Given the description of an element on the screen output the (x, y) to click on. 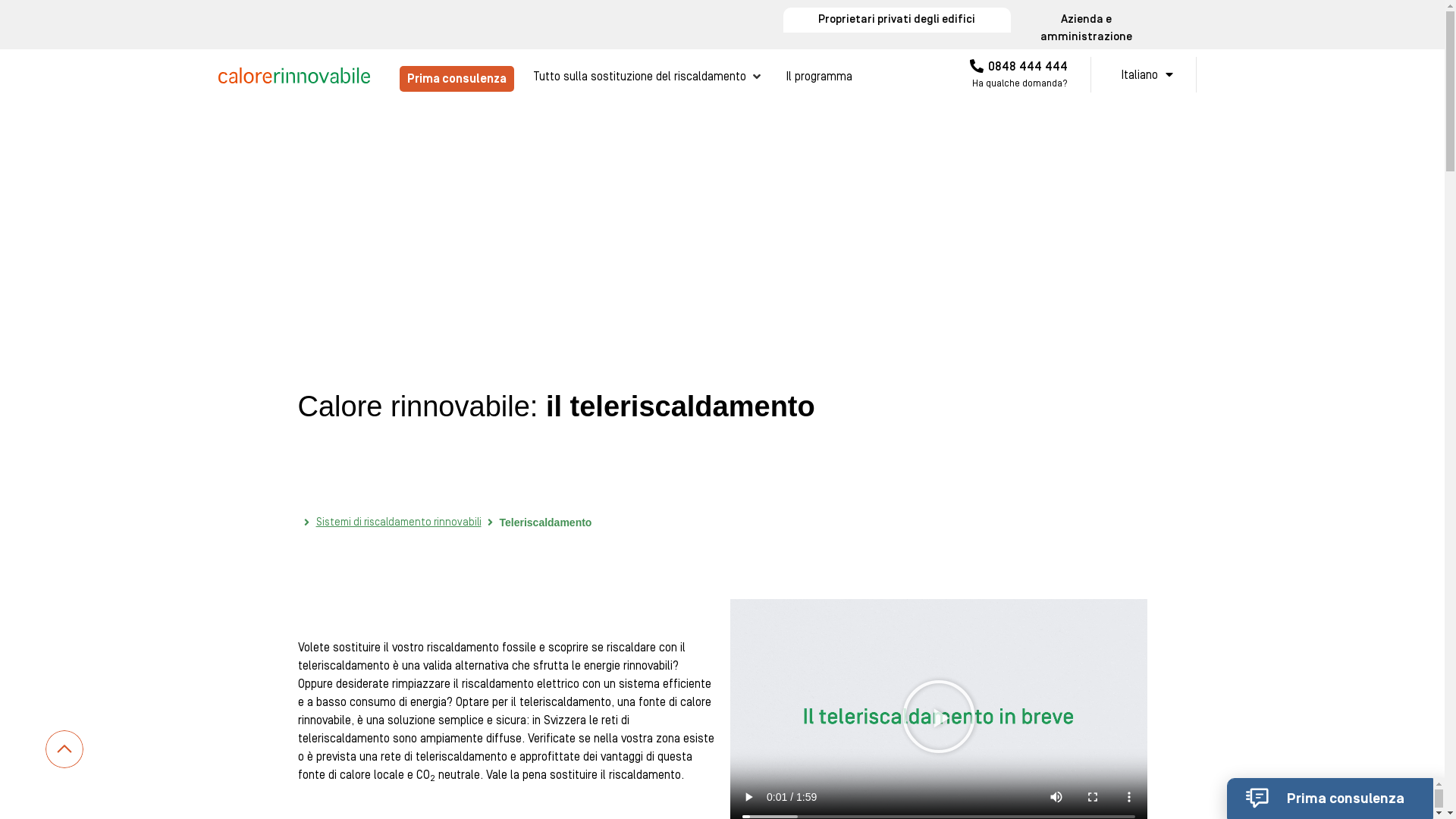
Proprietari privati degli edifici Element type: text (896, 19)
Azienda e amministrazione Element type: text (1085, 28)
Prima consulenza Element type: text (1329, 798)
Italiano Element type: text (1143, 74)
Prima consulenza Element type: text (456, 78)
Sistemi di riscaldamento rinnovabili Element type: text (397, 522)
Tutto sulla sostituzione del riscaldamento Element type: text (639, 76)
0848 444 444 Element type: text (1018, 67)
Il programma Element type: text (819, 76)
